Given the description of an element on the screen output the (x, y) to click on. 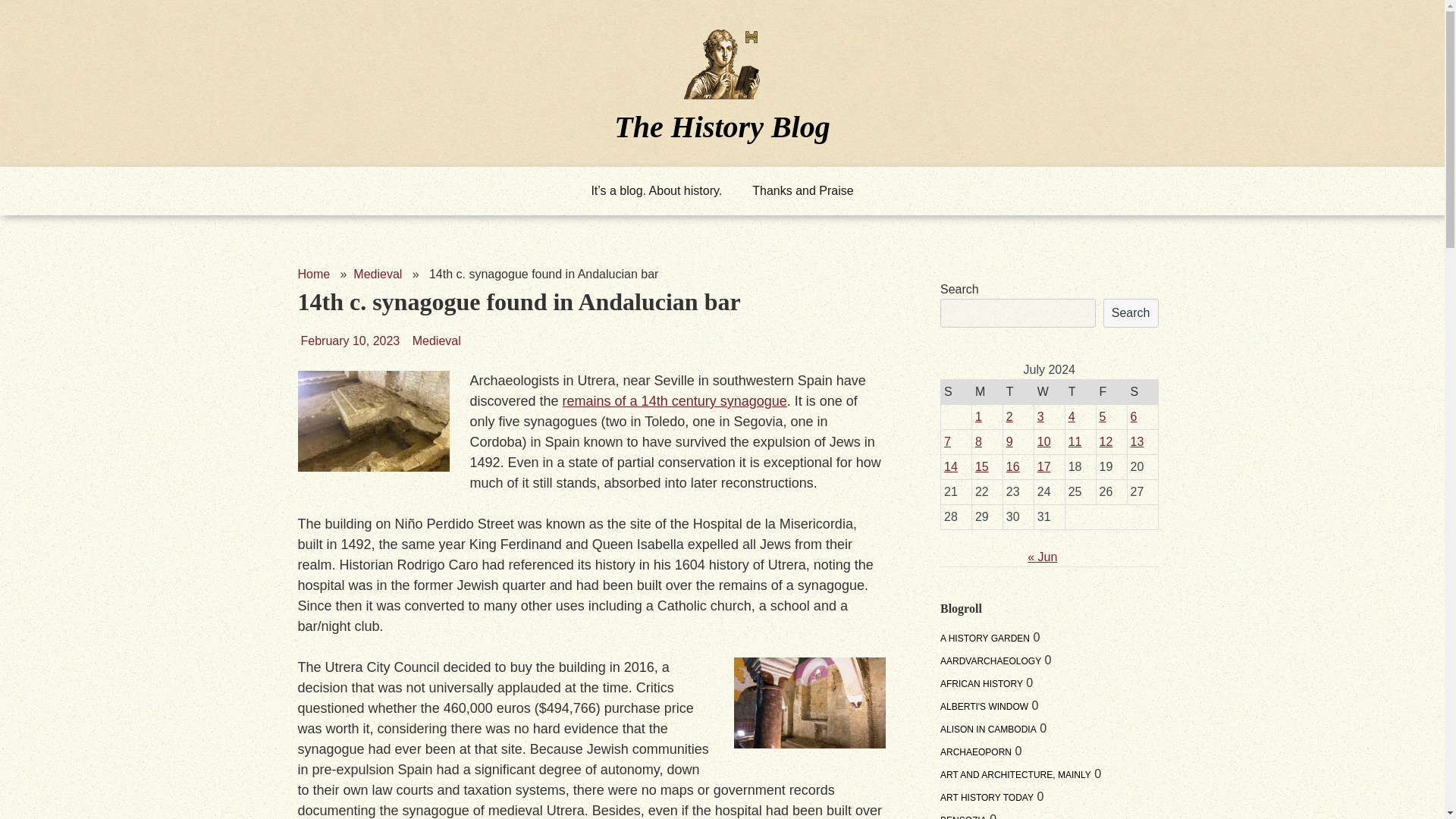
Sunday (955, 391)
Thursday (1080, 391)
Wednesday (1048, 391)
Tuesday (1018, 391)
14 (950, 466)
12 (1106, 440)
Saturday (1141, 391)
Thanks and Praise (801, 191)
Medieval (377, 273)
15 (981, 466)
13 (1137, 440)
Home (313, 273)
remains of a 14th century synagogue (674, 400)
Monday (987, 391)
Friday (1111, 391)
